Given the description of an element on the screen output the (x, y) to click on. 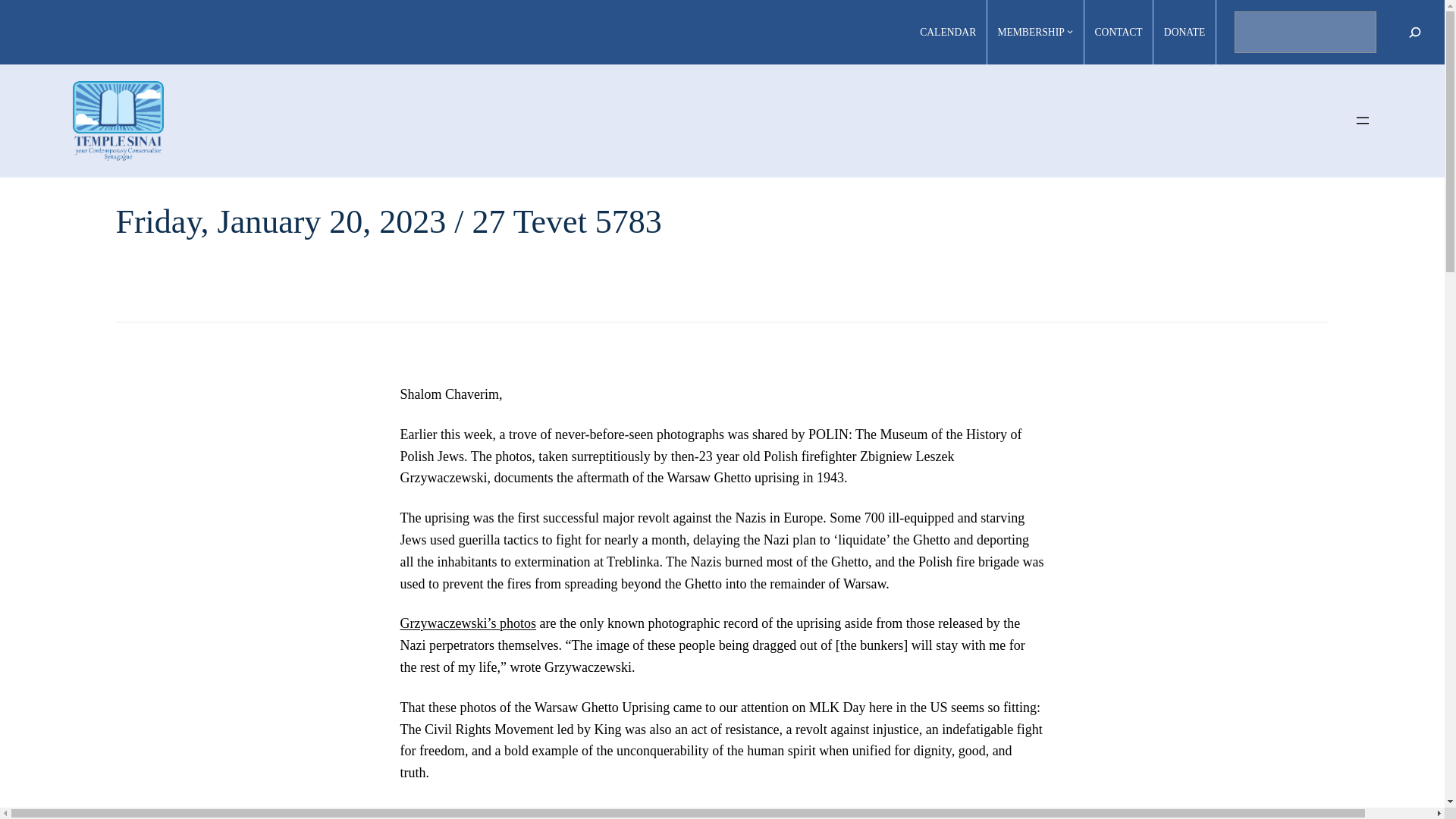
CALENDAR (947, 32)
CONTACT (1118, 32)
MEMBERSHIP (1030, 32)
DONATE (1184, 32)
